Given the description of an element on the screen output the (x, y) to click on. 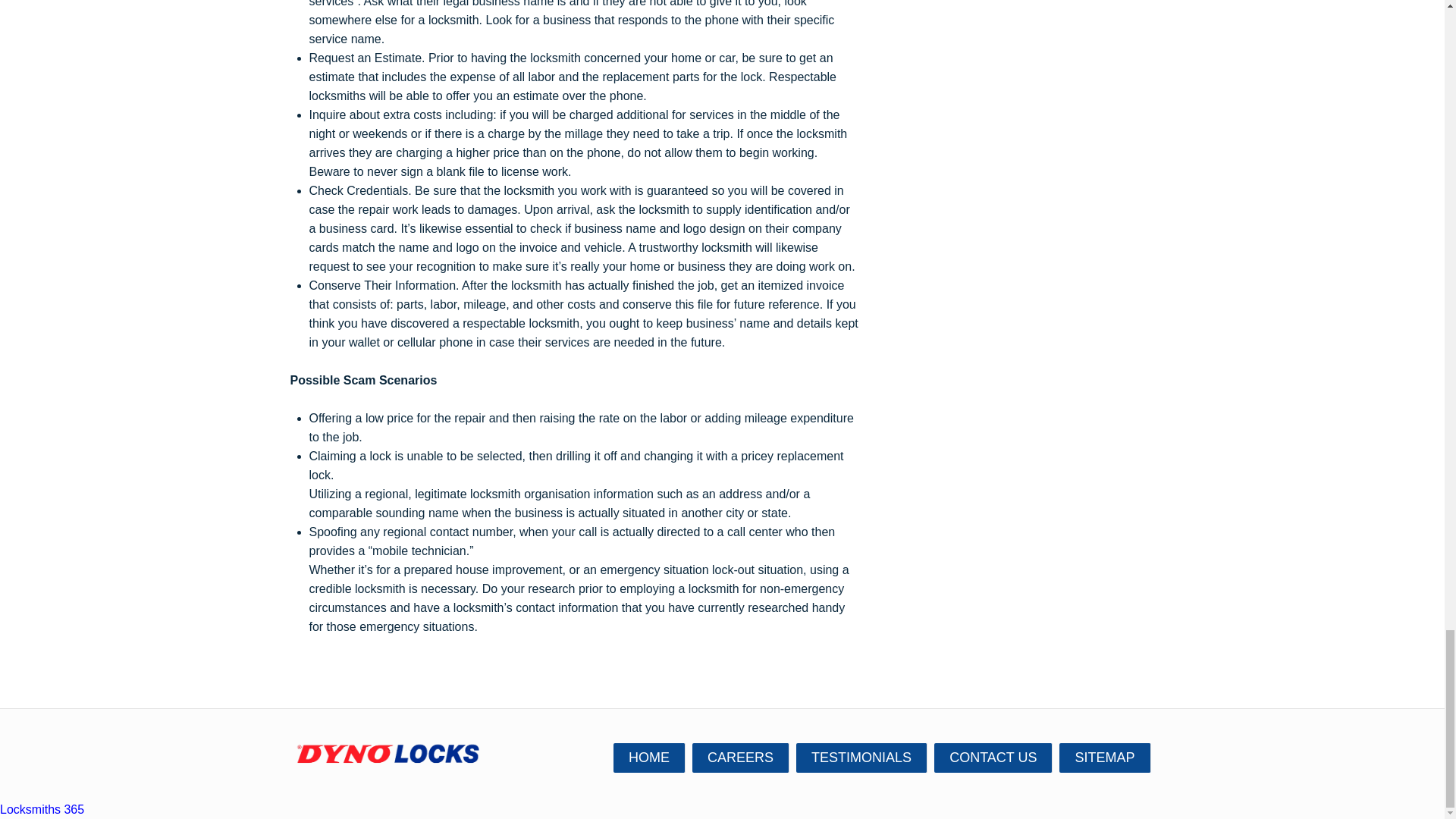
HOME (648, 757)
